Given the description of an element on the screen output the (x, y) to click on. 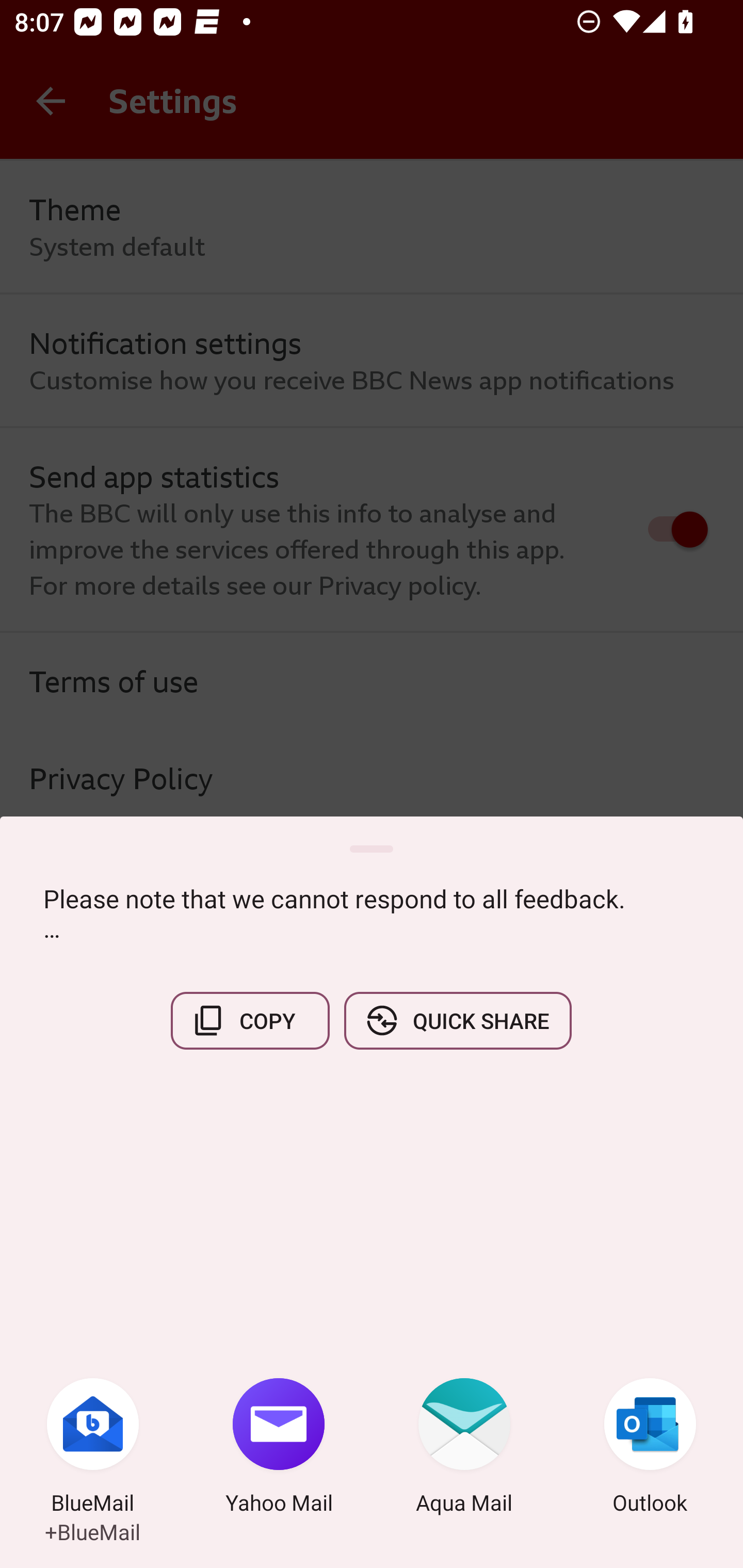
COPY (249, 1020)
QUICK SHARE (457, 1020)
BlueMail +BlueMail (92, 1448)
Yahoo Mail (278, 1448)
Aqua Mail (464, 1448)
Outlook (650, 1448)
